Given the description of an element on the screen output the (x, y) to click on. 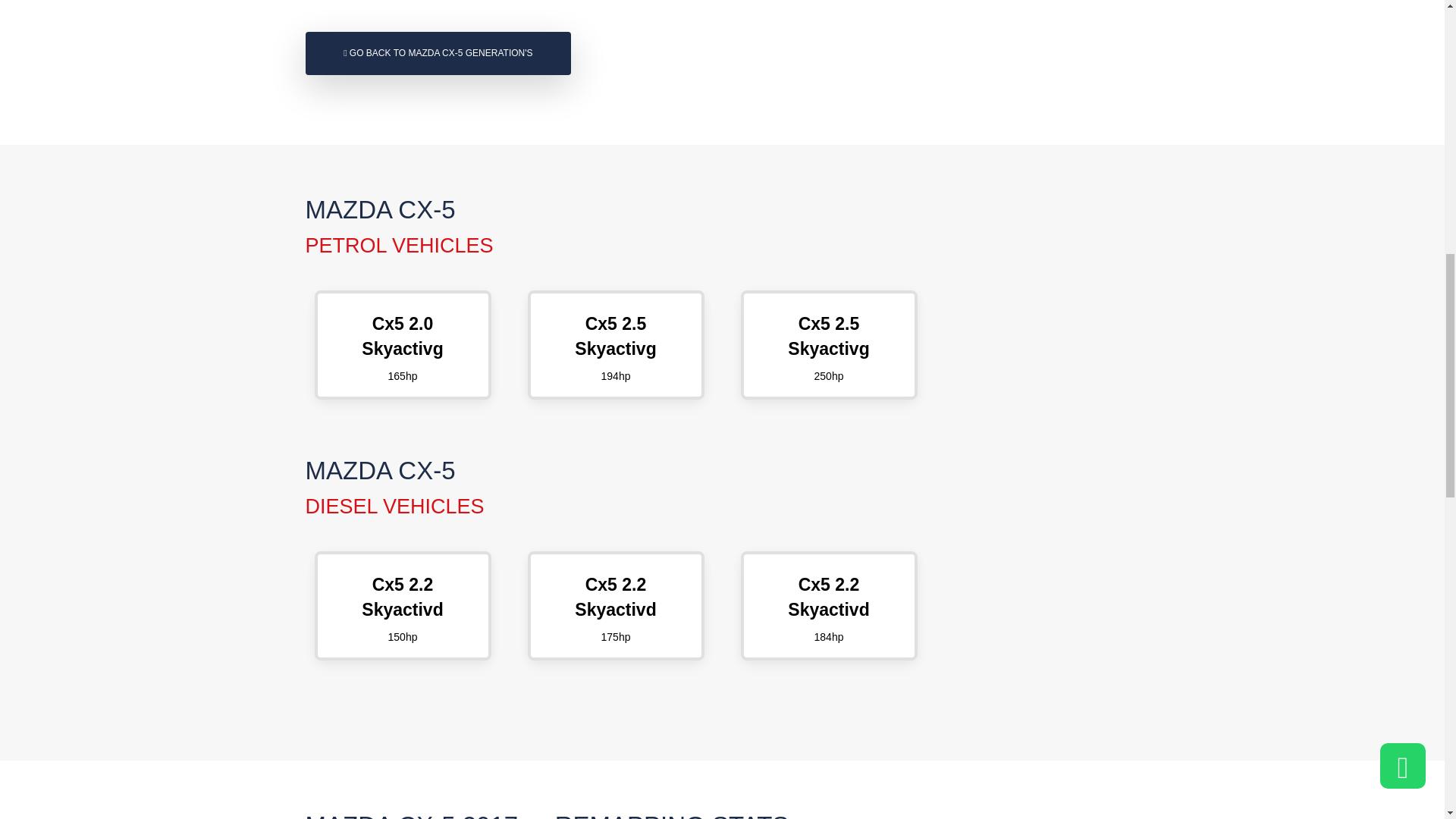
GO BACK TO MAZDA CX-5 GENERATION'S (615, 344)
